Given the description of an element on the screen output the (x, y) to click on. 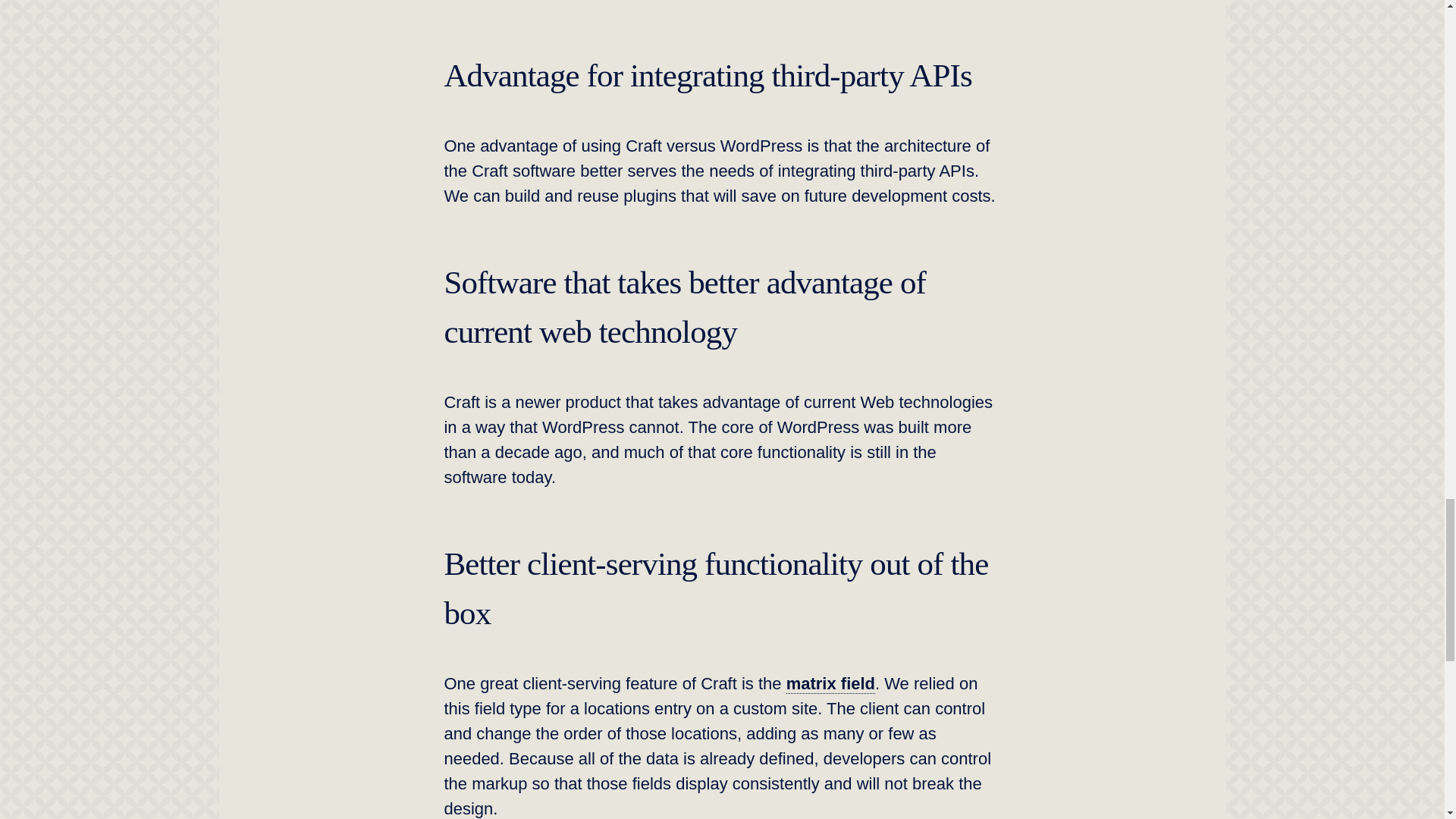
matrix field (830, 683)
